Given the description of an element on the screen output the (x, y) to click on. 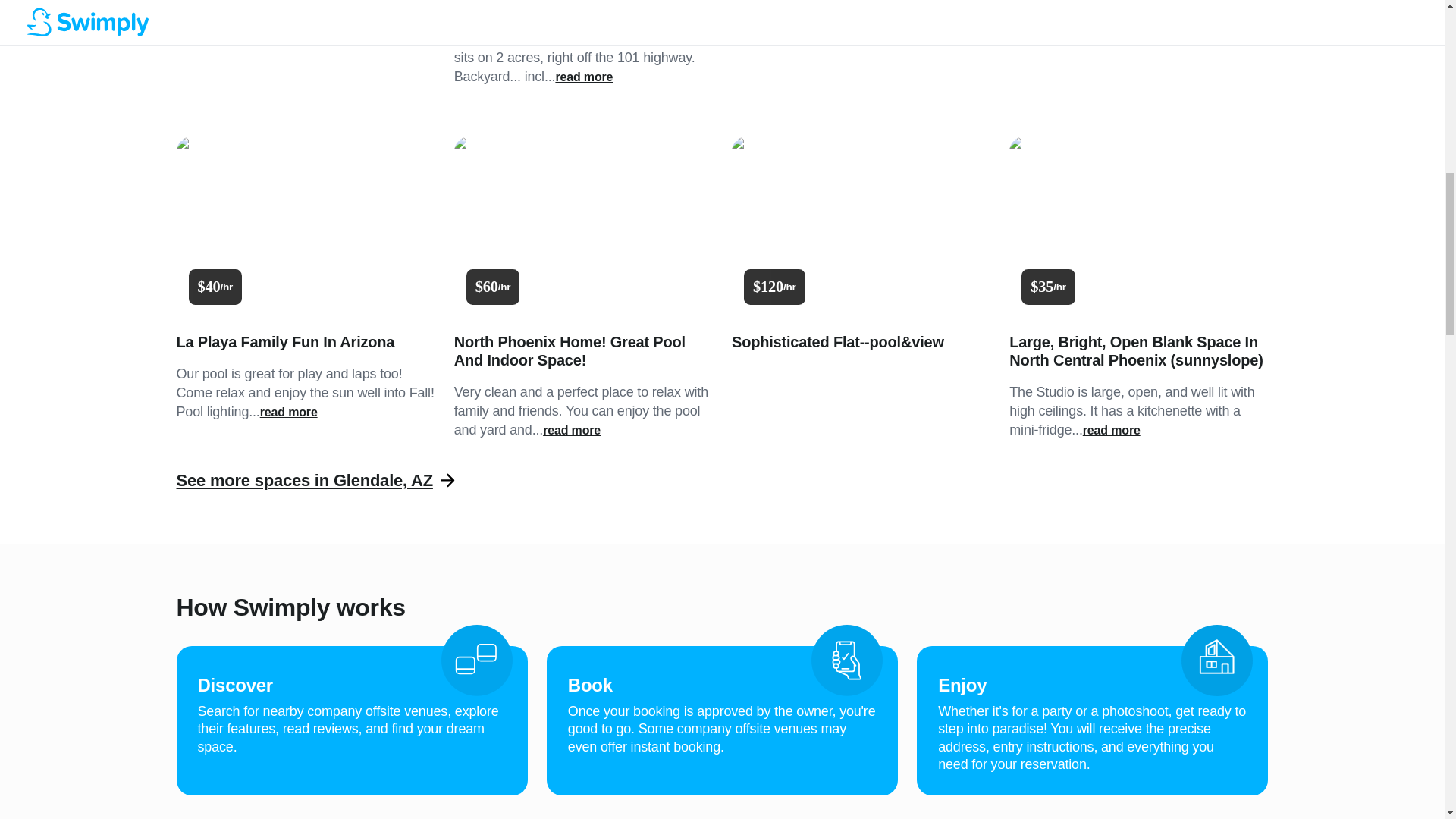
See more spaces in Glendale, AZ (304, 479)
read more (1119, 29)
read more (583, 76)
read more (1111, 430)
read more (288, 412)
read more (571, 430)
